Given the description of an element on the screen output the (x, y) to click on. 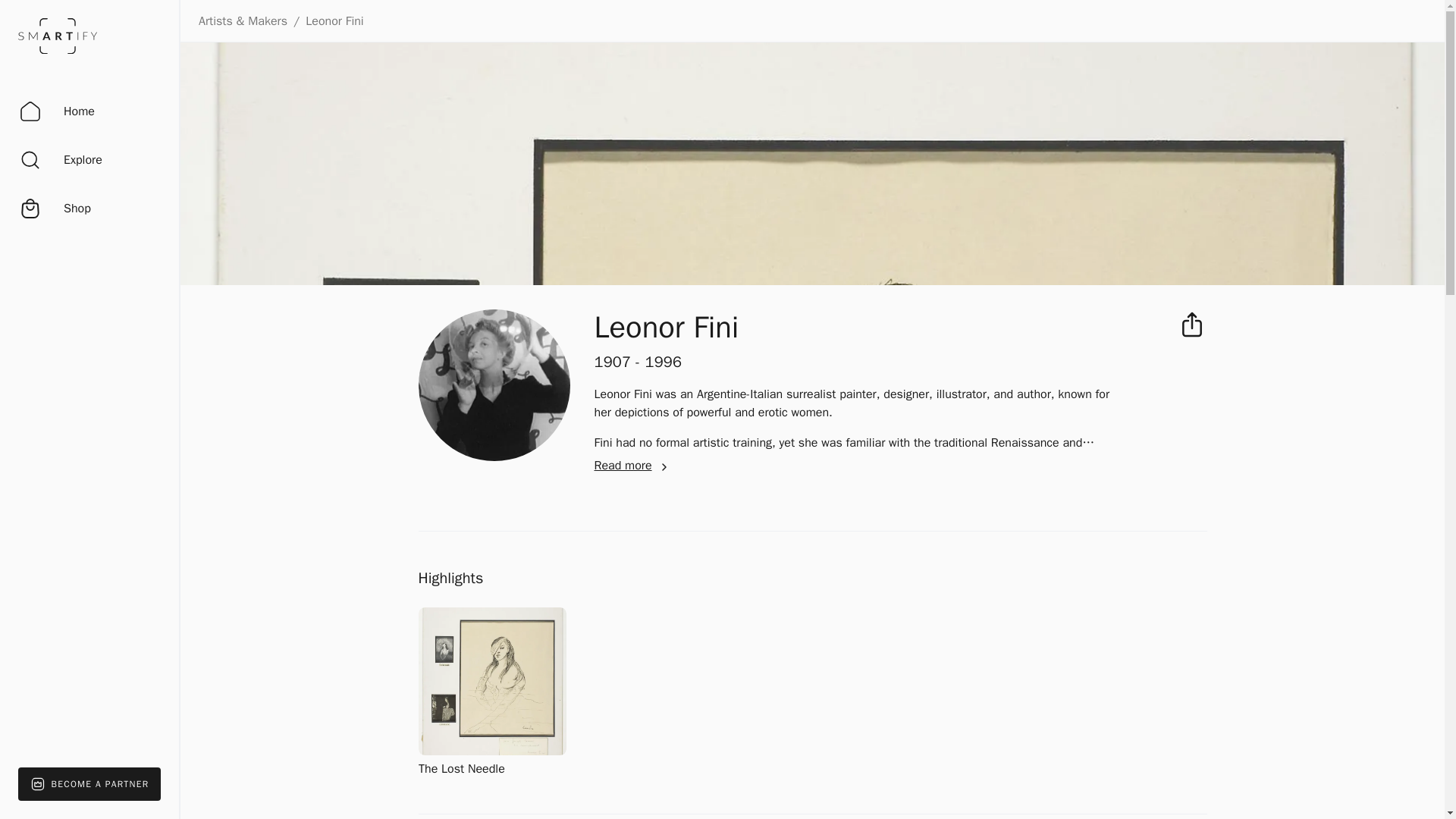
Read more (633, 466)
Explore (60, 159)
Shop (54, 208)
Home (55, 111)
BECOME A PARTNER (89, 783)
